Given the description of an element on the screen output the (x, y) to click on. 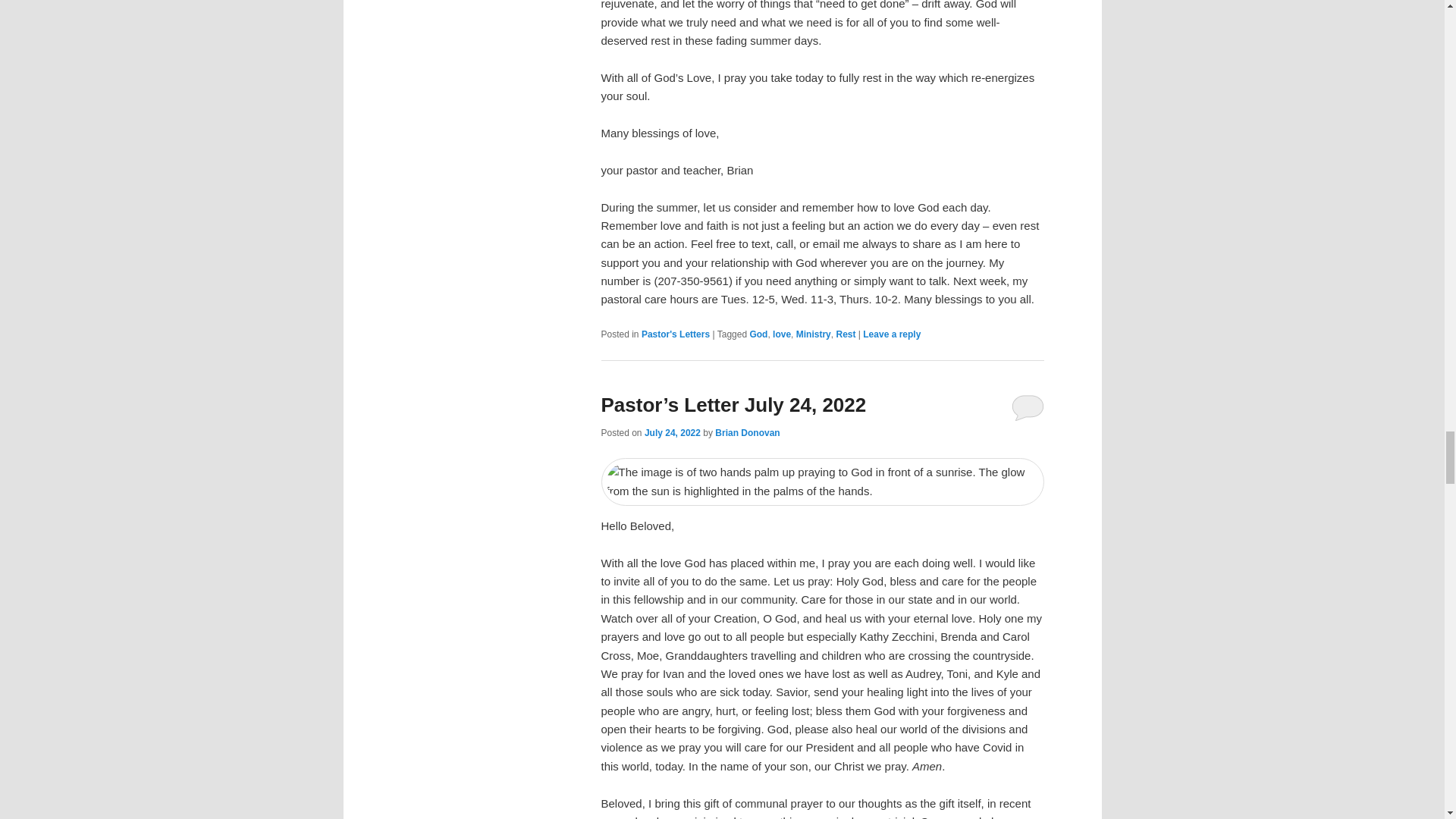
9:00 am (672, 432)
View all posts by Brian Donovan (746, 432)
